Given the description of an element on the screen output the (x, y) to click on. 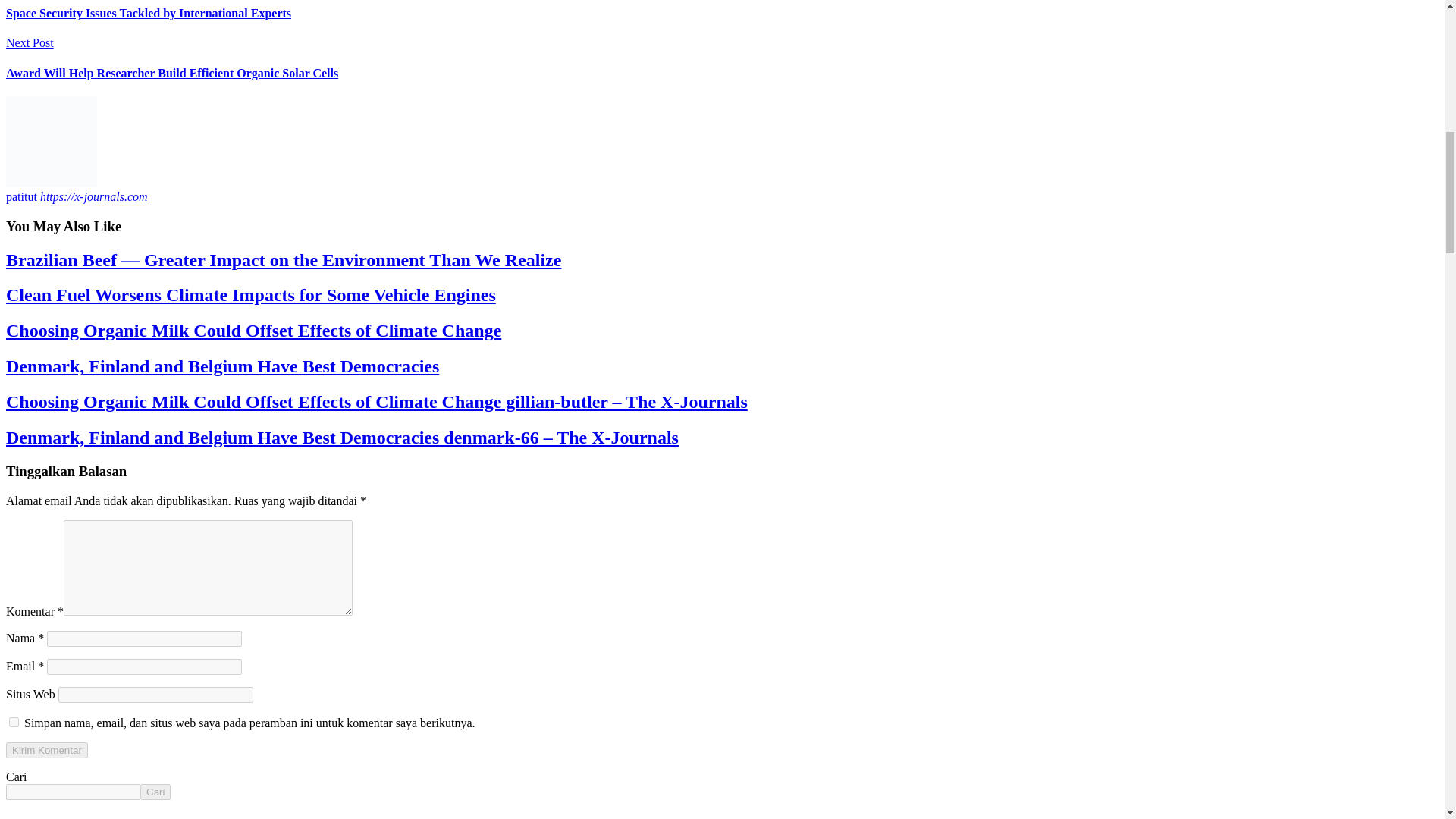
Clean Fuel Worsens Climate Impacts for Some Vehicle Engines (250, 294)
patitut (21, 196)
yes (13, 722)
Cari (154, 791)
Choosing Organic Milk Could Offset Effects of Climate Change (252, 330)
Denmark, Finland and Belgium Have Best Democracies (222, 365)
Kirim Komentar (46, 750)
Kirim Komentar (46, 750)
